Given the description of an element on the screen output the (x, y) to click on. 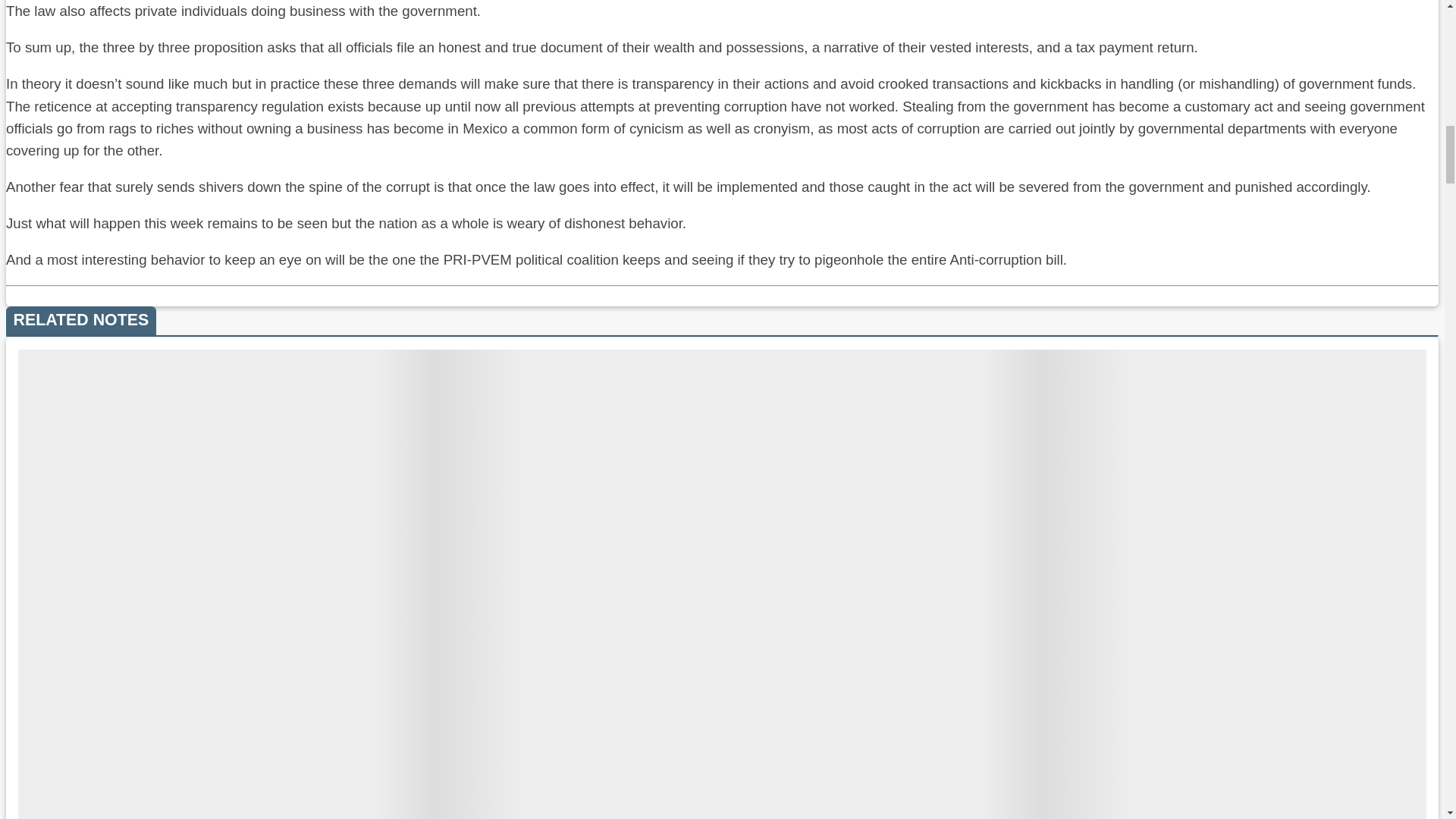
Green Party (85, 298)
corruption (30, 298)
PRI (124, 298)
